Given the description of an element on the screen output the (x, y) to click on. 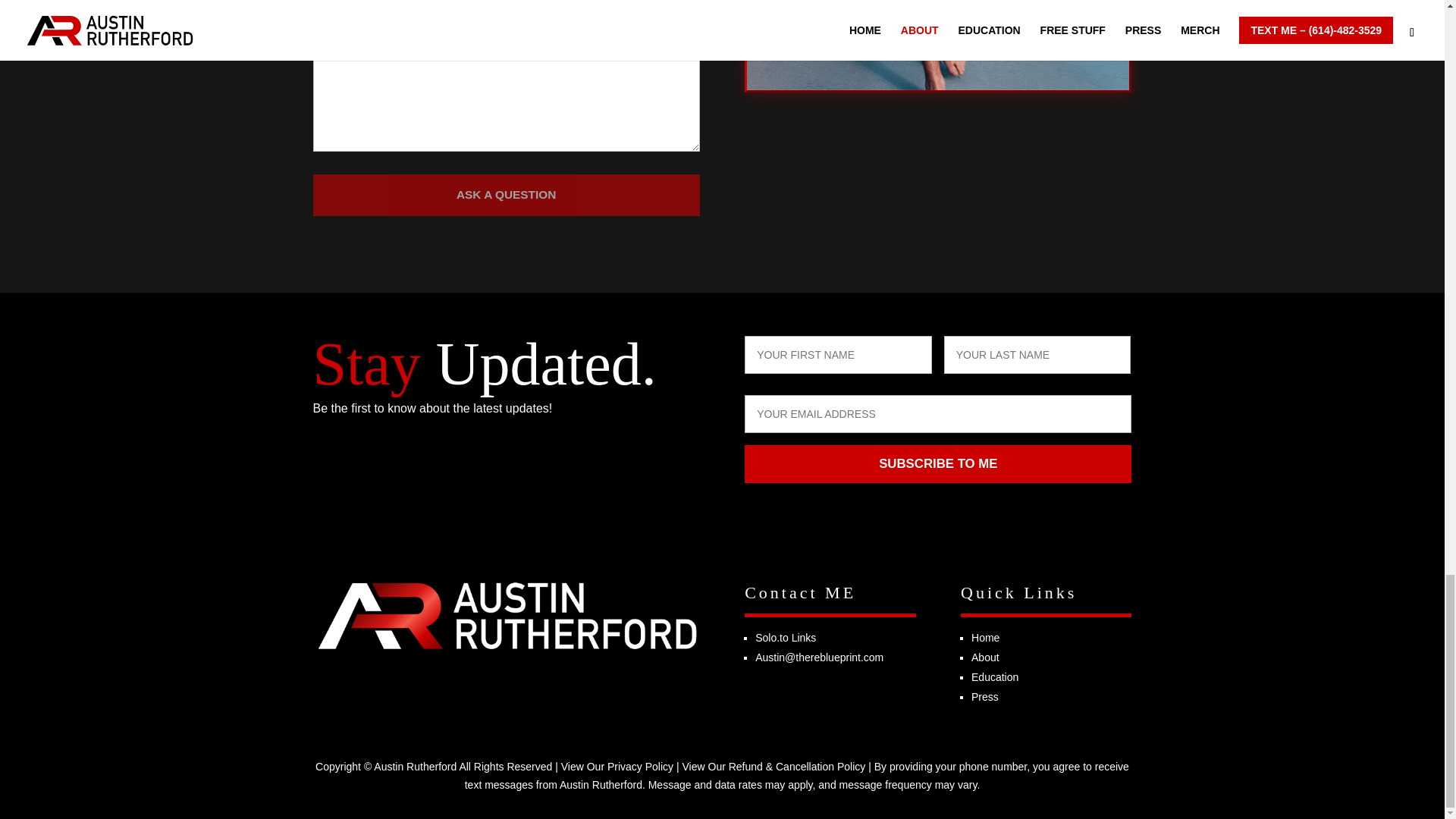
Press (984, 696)
Ask A Question (505, 195)
QuestionIMG (937, 45)
Ask A Question (505, 195)
Subscribe To Me (937, 464)
AustinR-Web-WhiteLogo (505, 615)
About (984, 657)
Home (984, 637)
Privacy Policy (639, 766)
Subscribe To Me (937, 464)
Education (994, 676)
Solo.to Links (785, 637)
